Given the description of an element on the screen output the (x, y) to click on. 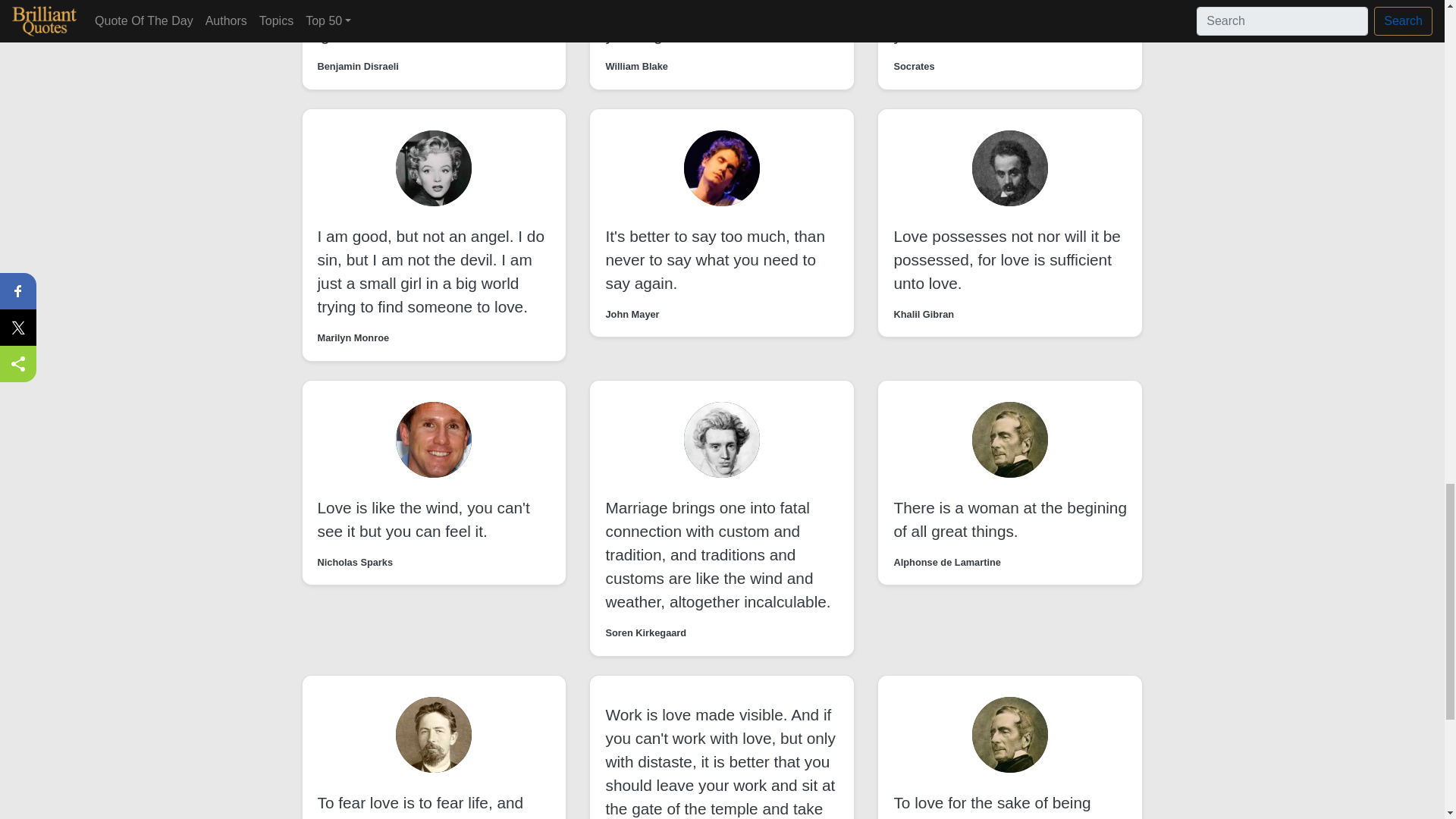
Benjamin Disraeli (357, 65)
